Given the description of an element on the screen output the (x, y) to click on. 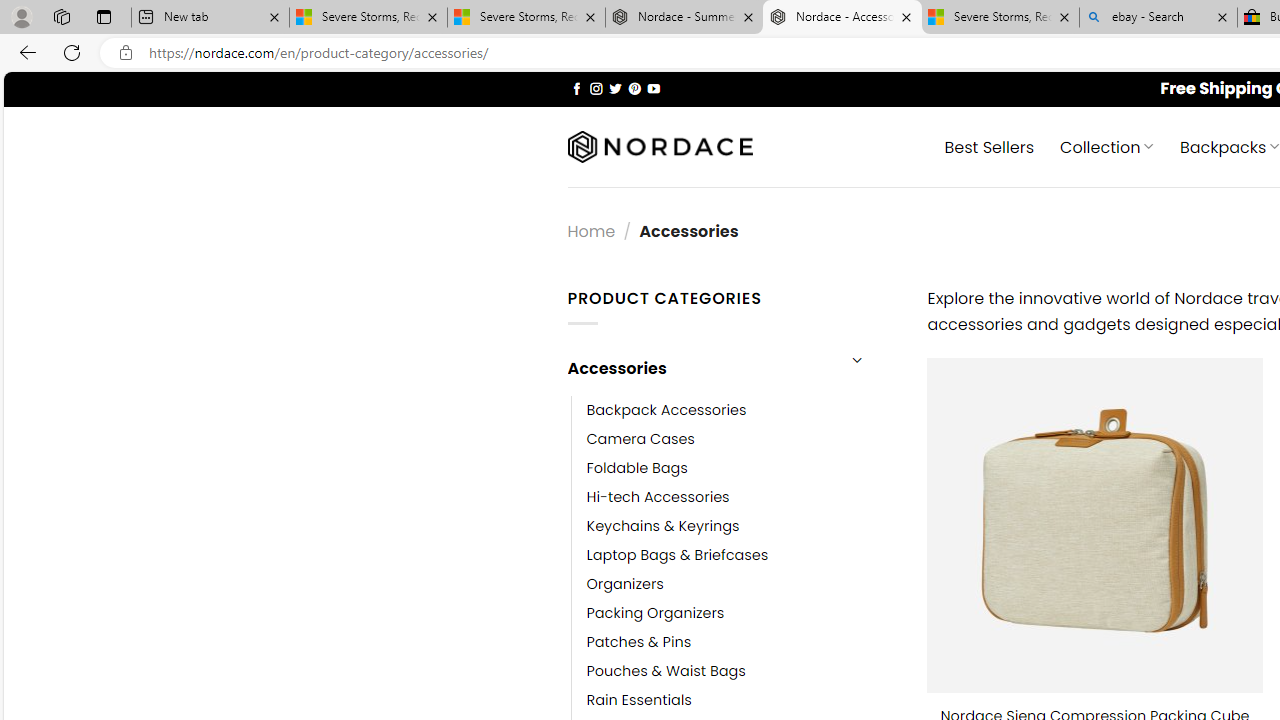
Tab actions menu (104, 16)
New tab (210, 17)
Close tab (1222, 16)
Personal Profile (21, 16)
Follow on Twitter (615, 88)
Workspaces (61, 16)
Patches & Pins (639, 642)
Backpack Accessories (742, 409)
Back (24, 52)
Laptop Bags & Briefcases (677, 555)
Pouches & Waist Bags (666, 671)
Packing Organizers (742, 614)
Hi-tech Accessories (742, 496)
